Given the description of an element on the screen output the (x, y) to click on. 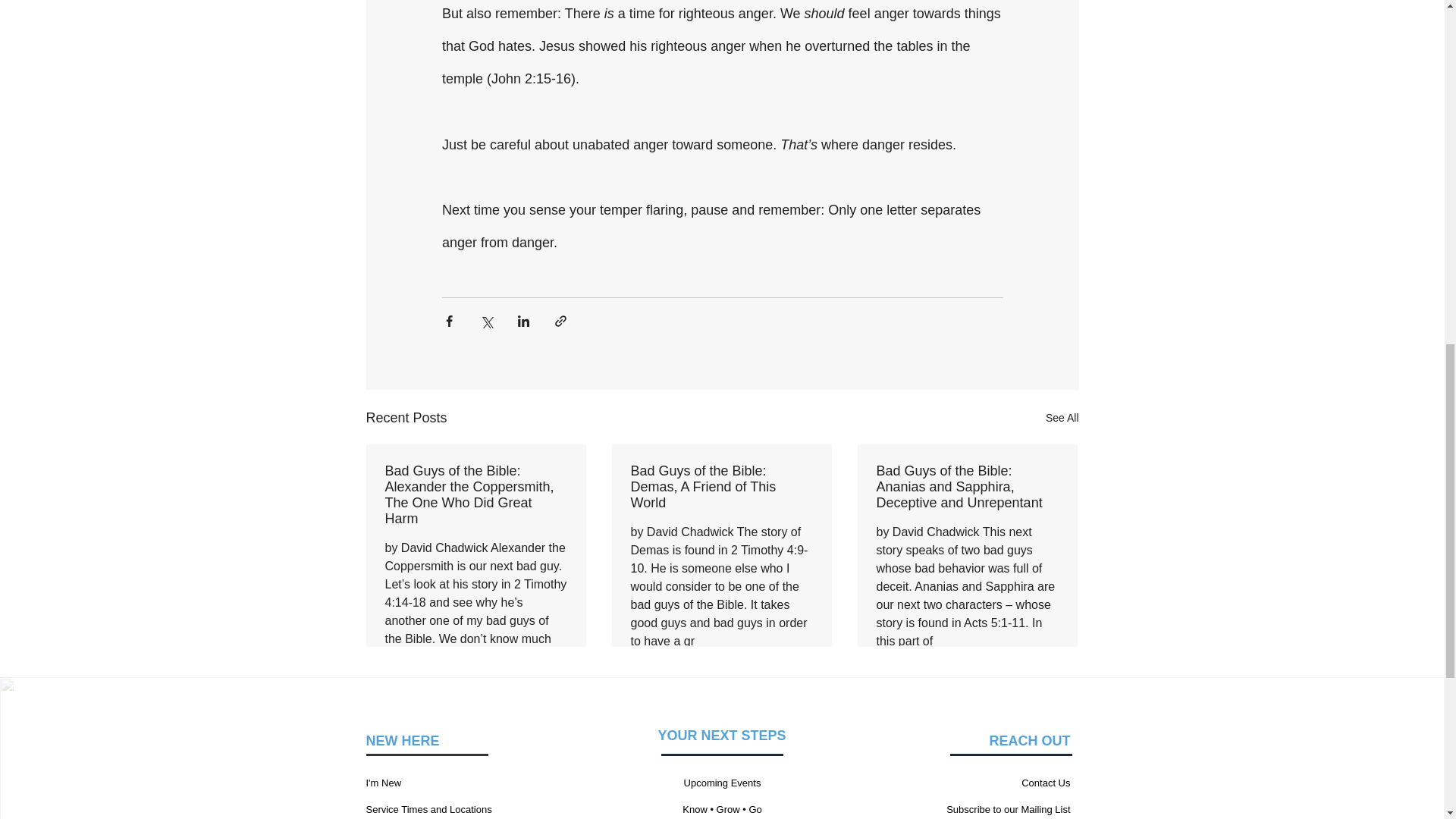
Service Times and Locations (428, 808)
I'm New (383, 782)
Bad Guys of the Bible: Demas, A Friend of This World (721, 487)
Upcoming Events (722, 782)
See All (1061, 418)
